Given the description of an element on the screen output the (x, y) to click on. 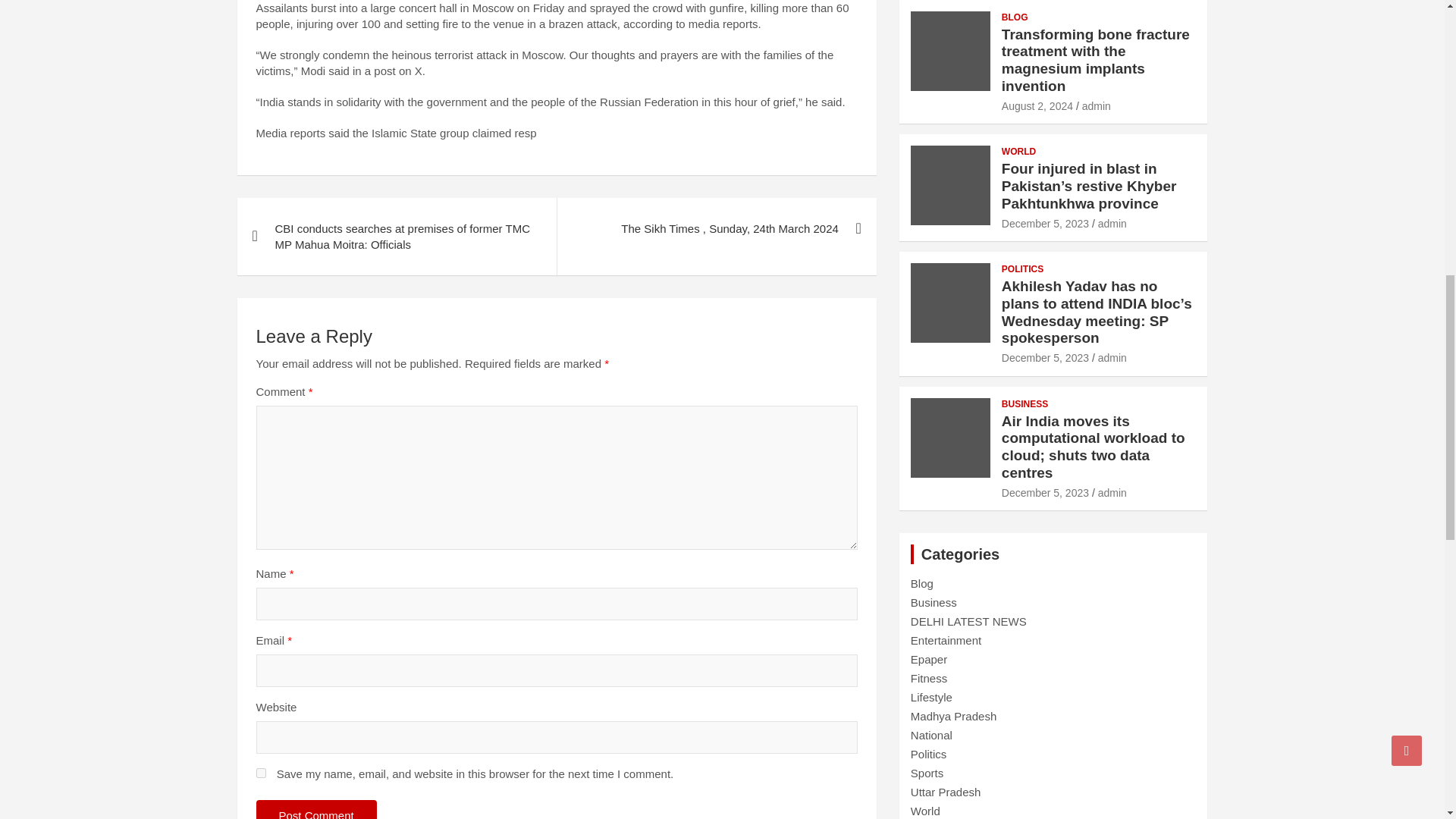
Post Comment (316, 809)
Post Comment (316, 809)
yes (261, 773)
The Sikh Times , Sunday, 24th March 2024 (716, 228)
